Given the description of an element on the screen output the (x, y) to click on. 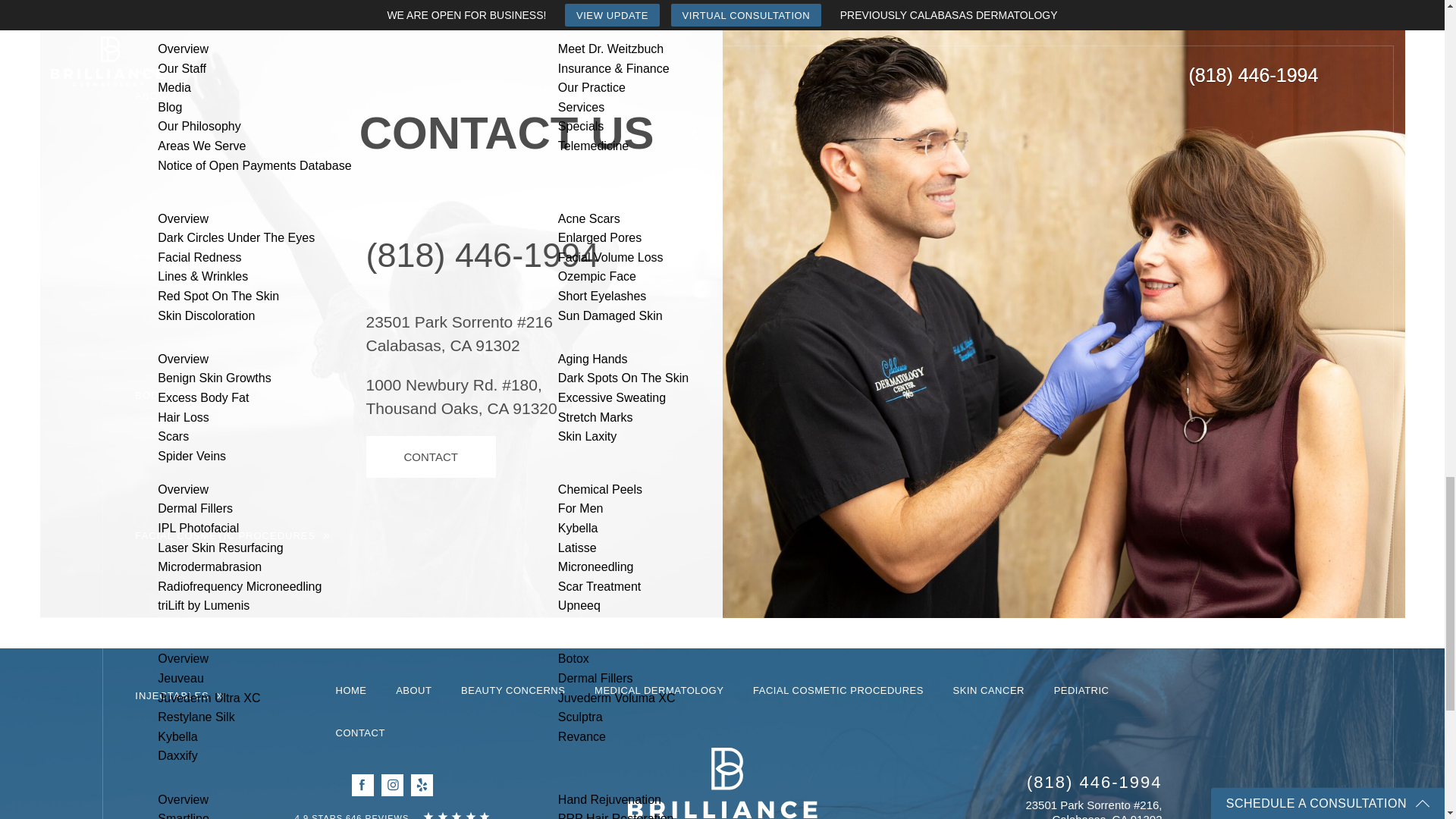
5.0 out of 5 stars (353, 816)
